Given the description of an element on the screen output the (x, y) to click on. 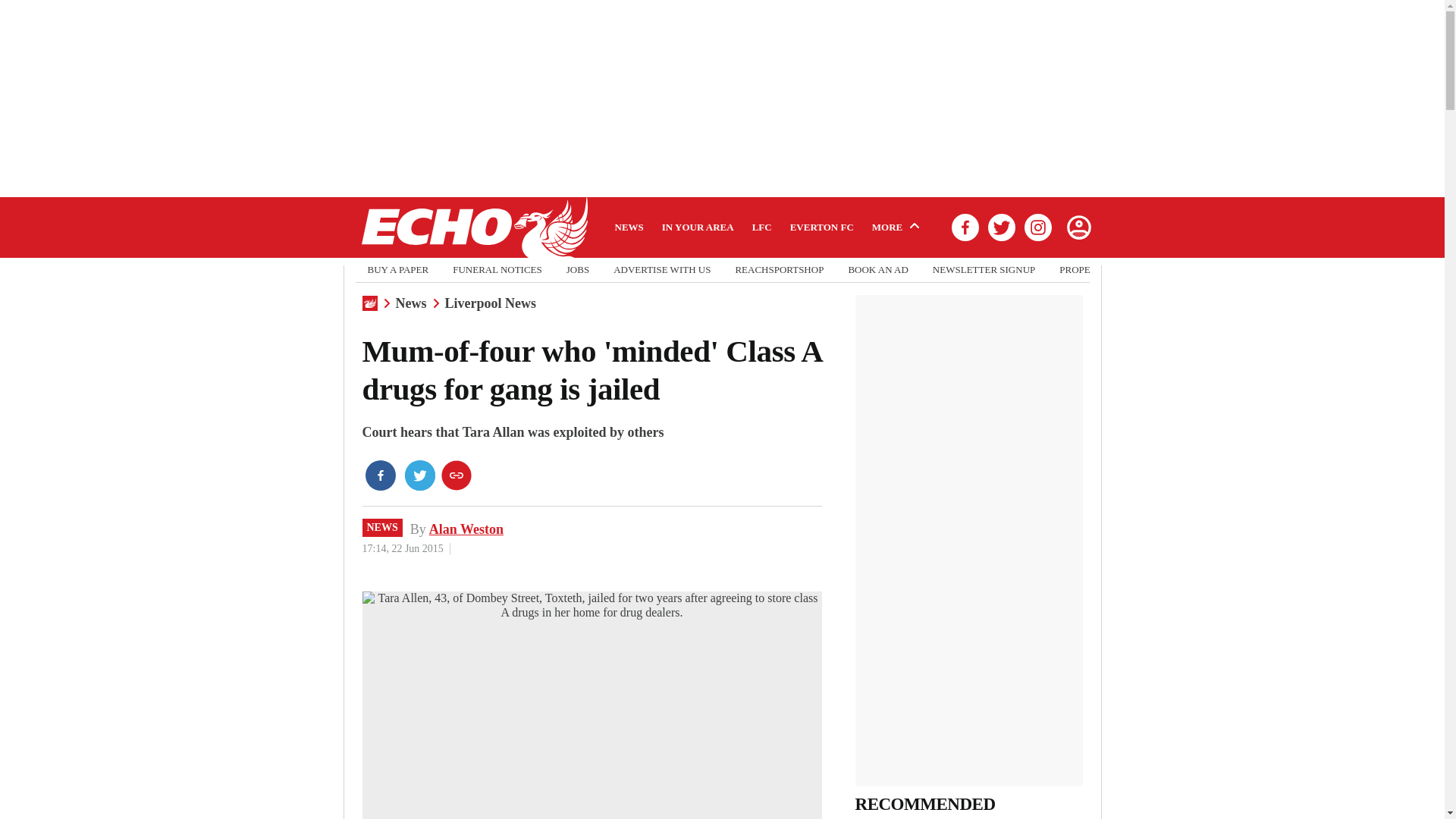
IN YOUR AREA (697, 227)
BOOK AN AD (877, 270)
REACHSPORTSHOP (779, 270)
FUNERAL NOTICES (496, 270)
EVERTON FC (821, 227)
NEWS (382, 527)
JOBS (577, 270)
avatar (1077, 227)
PROPERTY (1084, 270)
Alan Weston (466, 529)
